Given the description of an element on the screen output the (x, y) to click on. 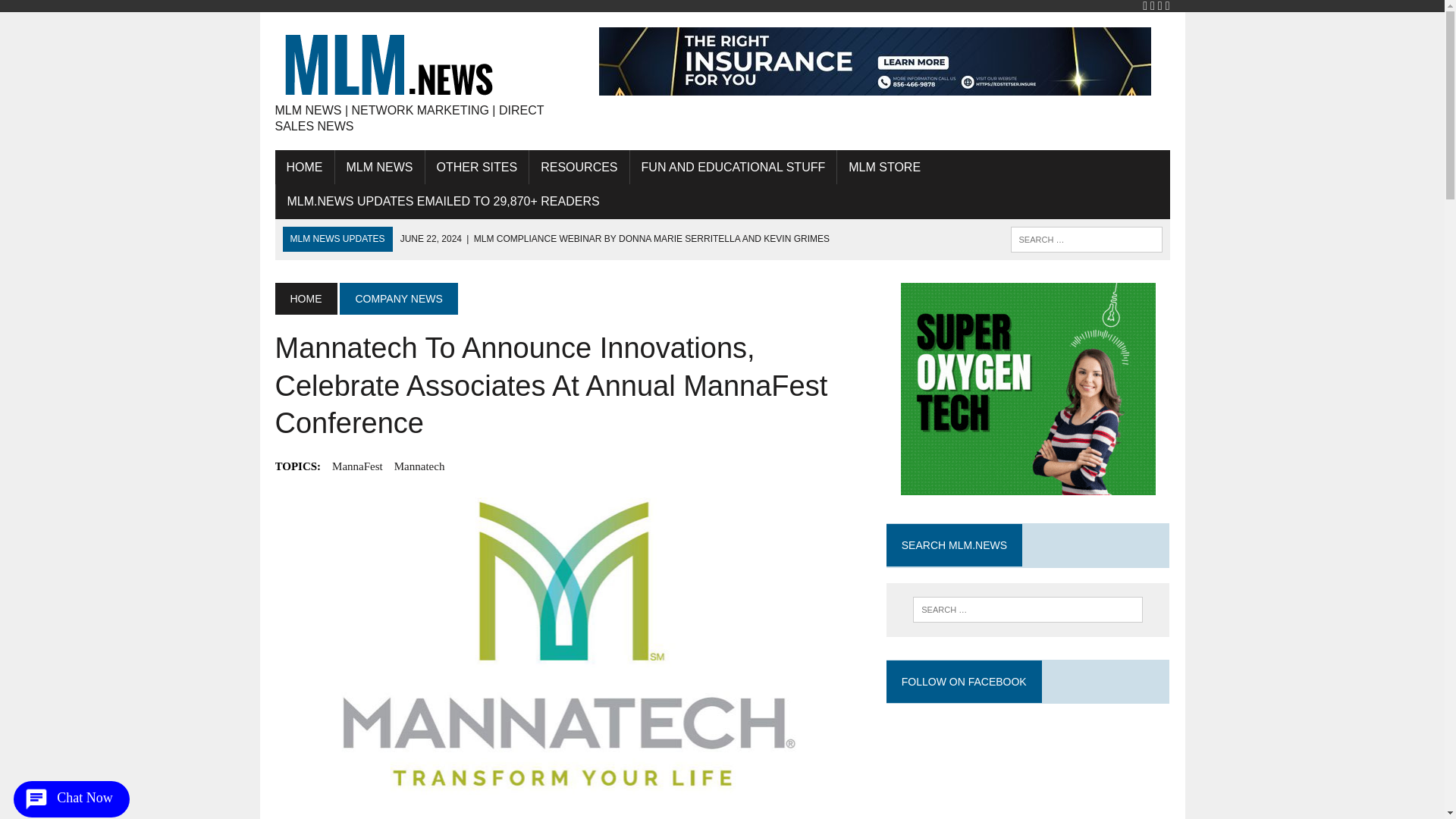
MLM NEWS (379, 167)
RESOURCES (578, 167)
OTHER SITES (476, 167)
FUN AND EDUCATIONAL STUFF (733, 167)
HOME (304, 167)
Chat Now (71, 799)
MLM STORE (884, 167)
